Given the description of an element on the screen output the (x, y) to click on. 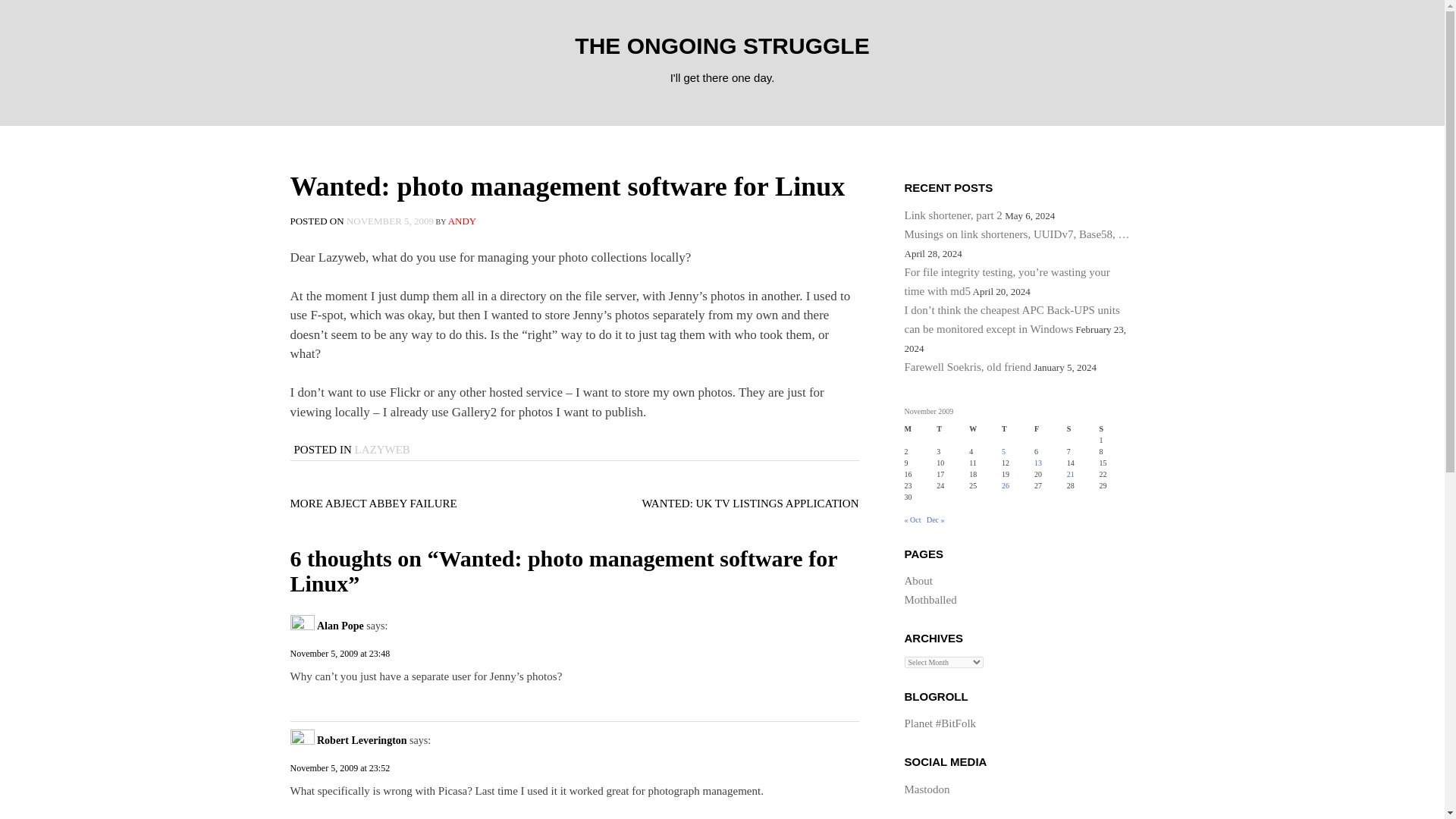
13 (1037, 462)
Link shortener, part 2 (952, 215)
NOVEMBER 5, 2009 (389, 220)
LAZYWEB (382, 449)
ANDY (462, 220)
About (918, 580)
WANTED: UK TV LISTINGS APPLICATION (750, 503)
Farewell Soekris, old friend (967, 367)
Tuesday (952, 428)
Friday (1050, 428)
Sunday (1115, 428)
21 (1070, 474)
26 (1005, 485)
Monday (920, 428)
THE ONGOING STRUGGLE (722, 45)
